Given the description of an element on the screen output the (x, y) to click on. 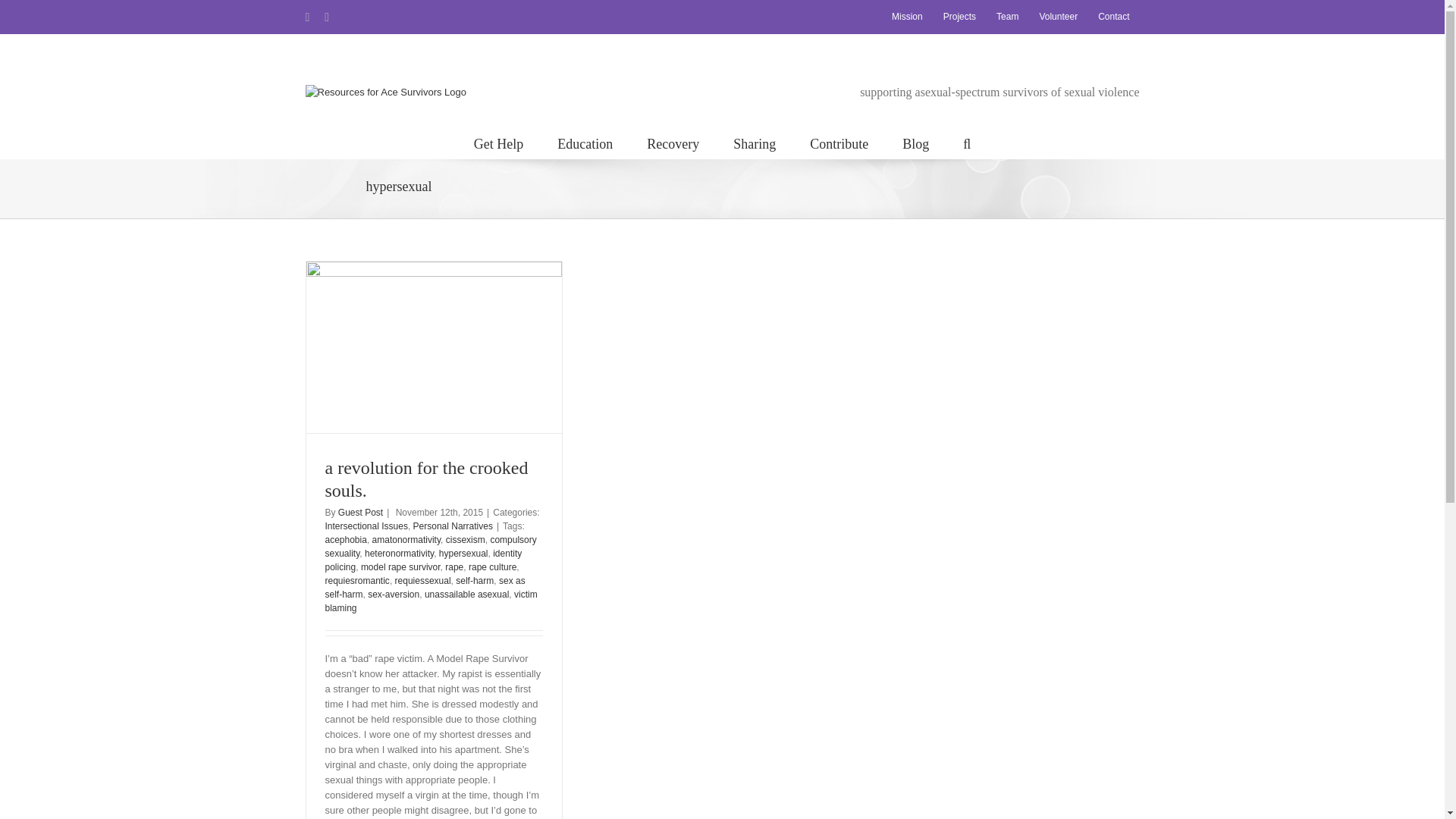
Education (584, 142)
Get Help (498, 142)
Team (1007, 16)
Volunteer (1058, 16)
Posts by Guest Post (359, 511)
Projects (959, 16)
Recovery (672, 142)
Contact (1112, 16)
Contribute (838, 142)
Sharing (754, 142)
Mission (907, 16)
